Given the description of an element on the screen output the (x, y) to click on. 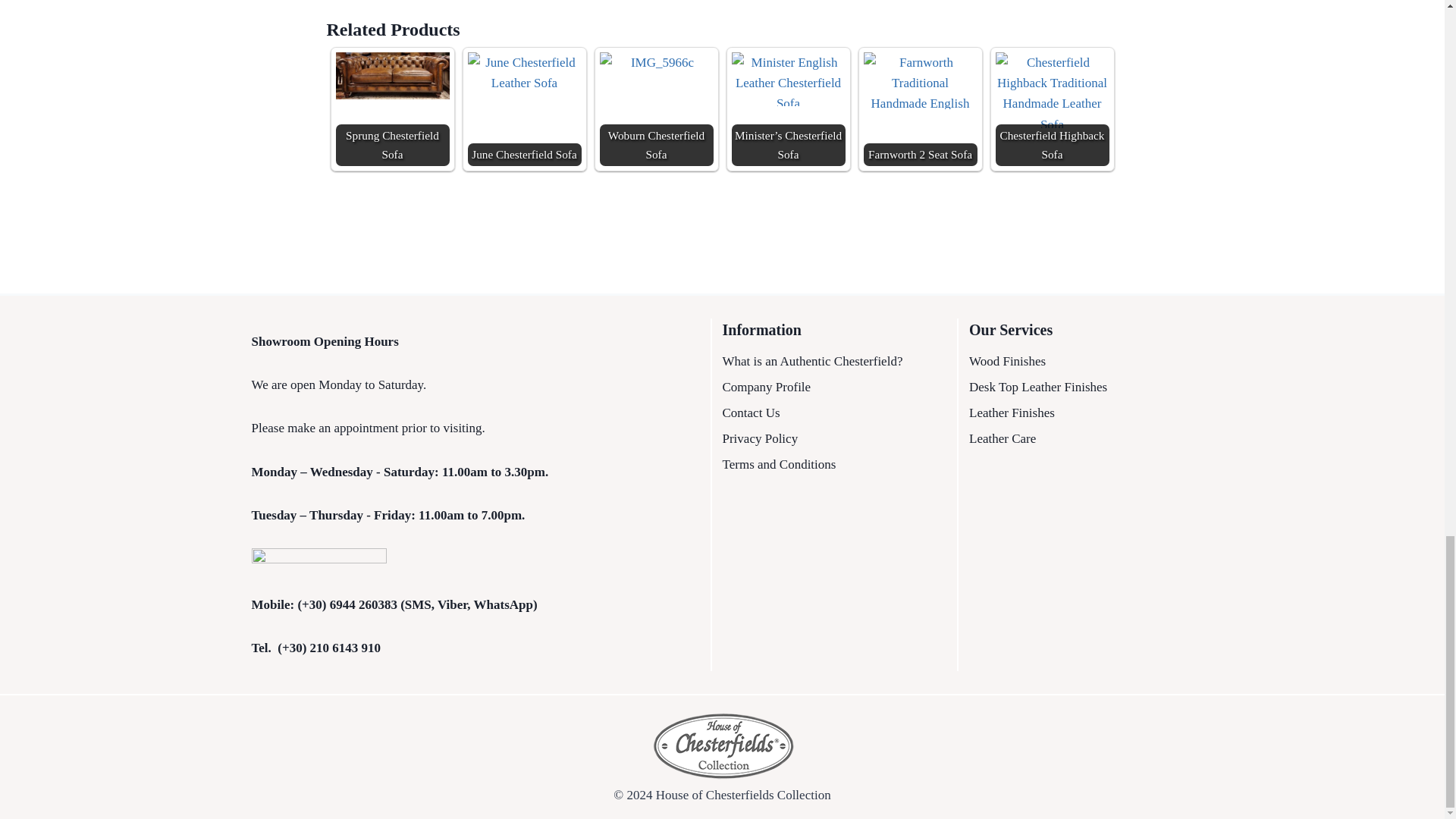
Sprung Chesterfield Sofa (391, 75)
Farnworth 2 Seat Sofa (919, 109)
Woburn Chesterfield Sofa (655, 109)
June Chesterfield Sofa (523, 76)
Chesterfield Highback Sofa (1051, 89)
Woburn Chesterfield Sofa (655, 76)
Farnworth 2 Seat Sofa (919, 80)
June Chesterfield Sofa (523, 109)
Minister's Chesterfield Sofa (787, 79)
Sprung Chesterfield Sofa (391, 109)
